Given the description of an element on the screen output the (x, y) to click on. 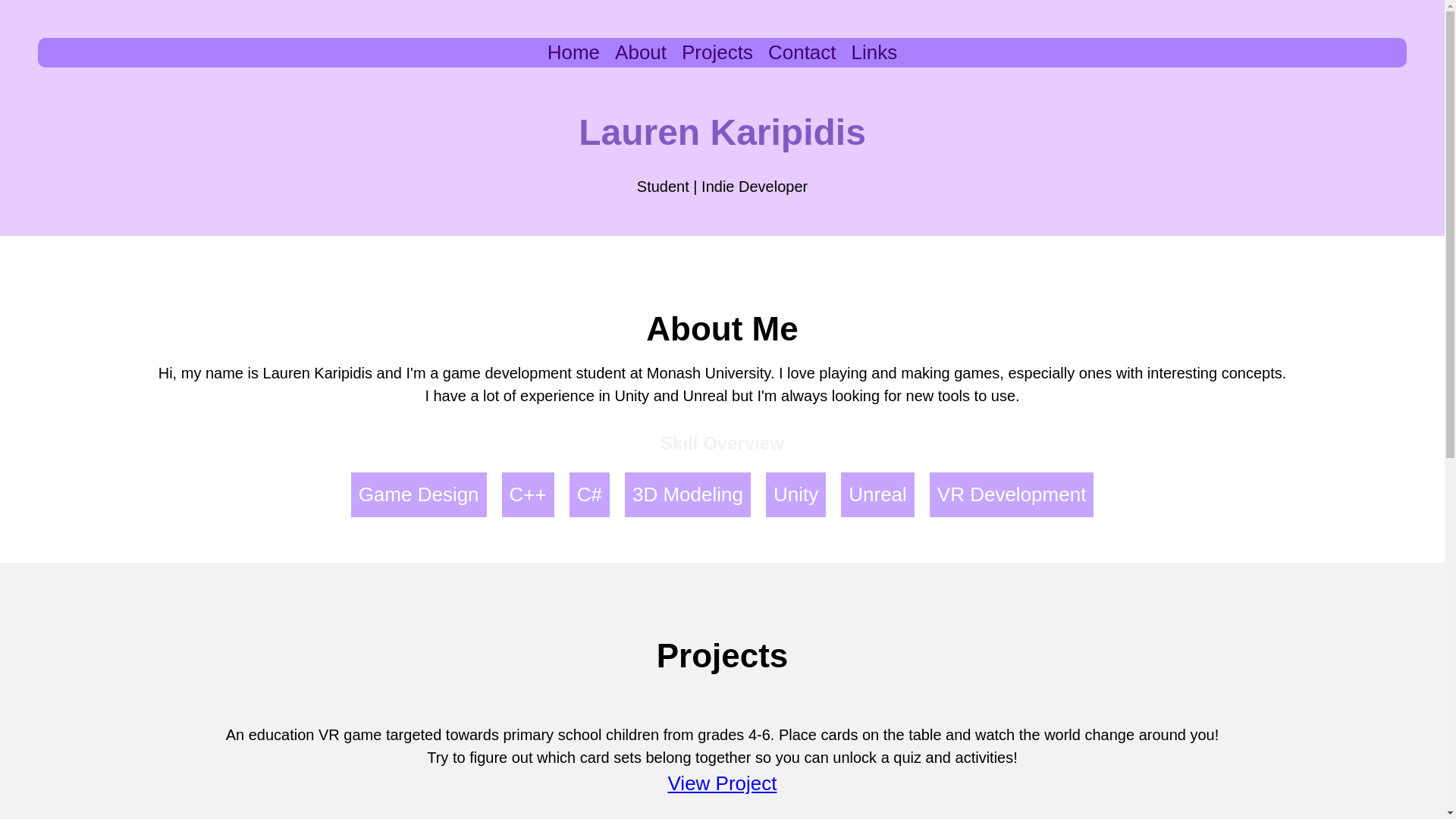
Contact (801, 51)
Home (573, 51)
Projects (716, 51)
View Project (721, 783)
About (640, 51)
Links (874, 51)
